Given the description of an element on the screen output the (x, y) to click on. 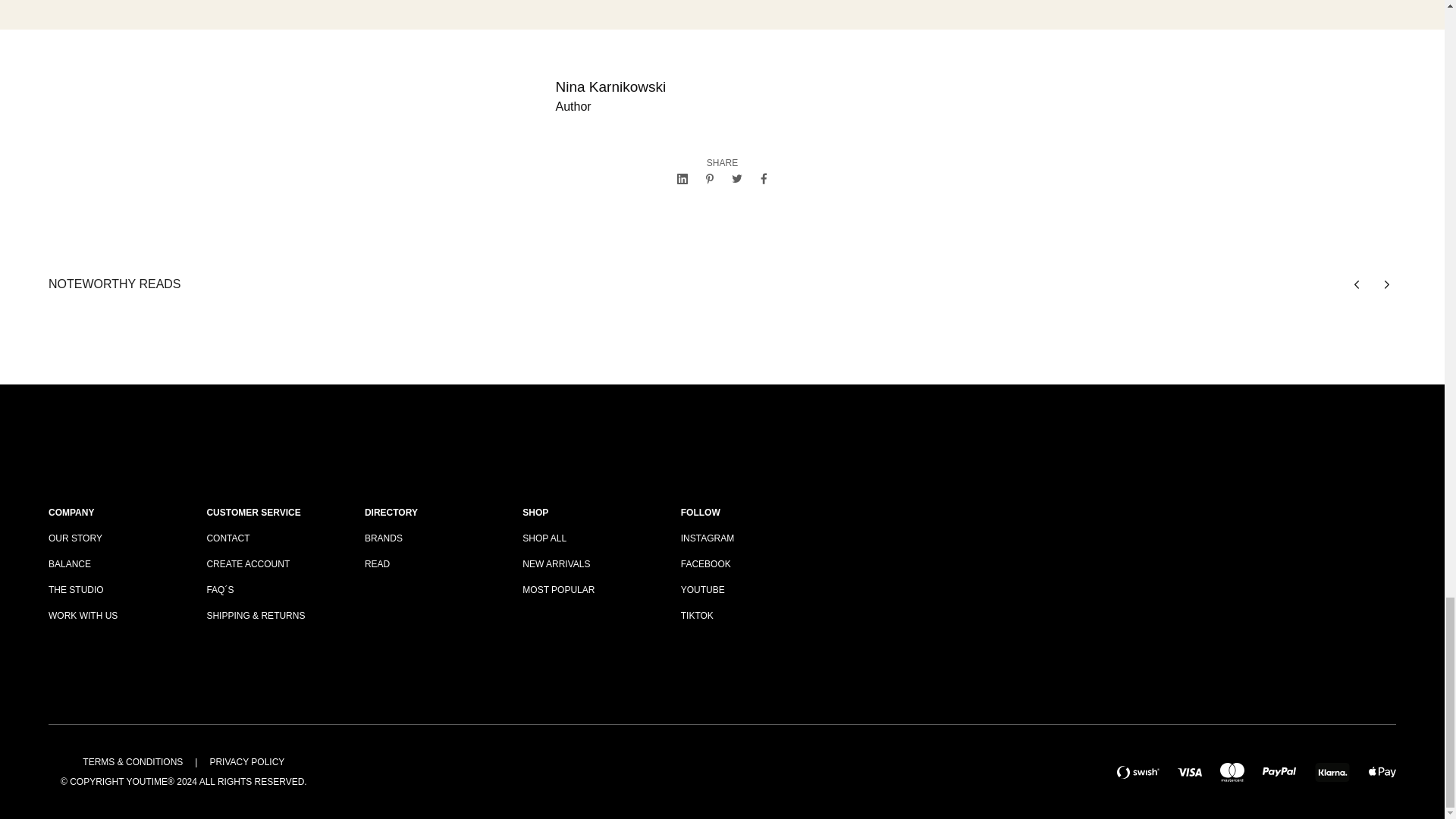
CREATE ACCOUNT (269, 563)
THE STUDIO (112, 590)
WORK WITH US (112, 615)
CONTACT (269, 538)
OUR STORY (112, 538)
BALANCE (112, 563)
